Given the description of an element on the screen output the (x, y) to click on. 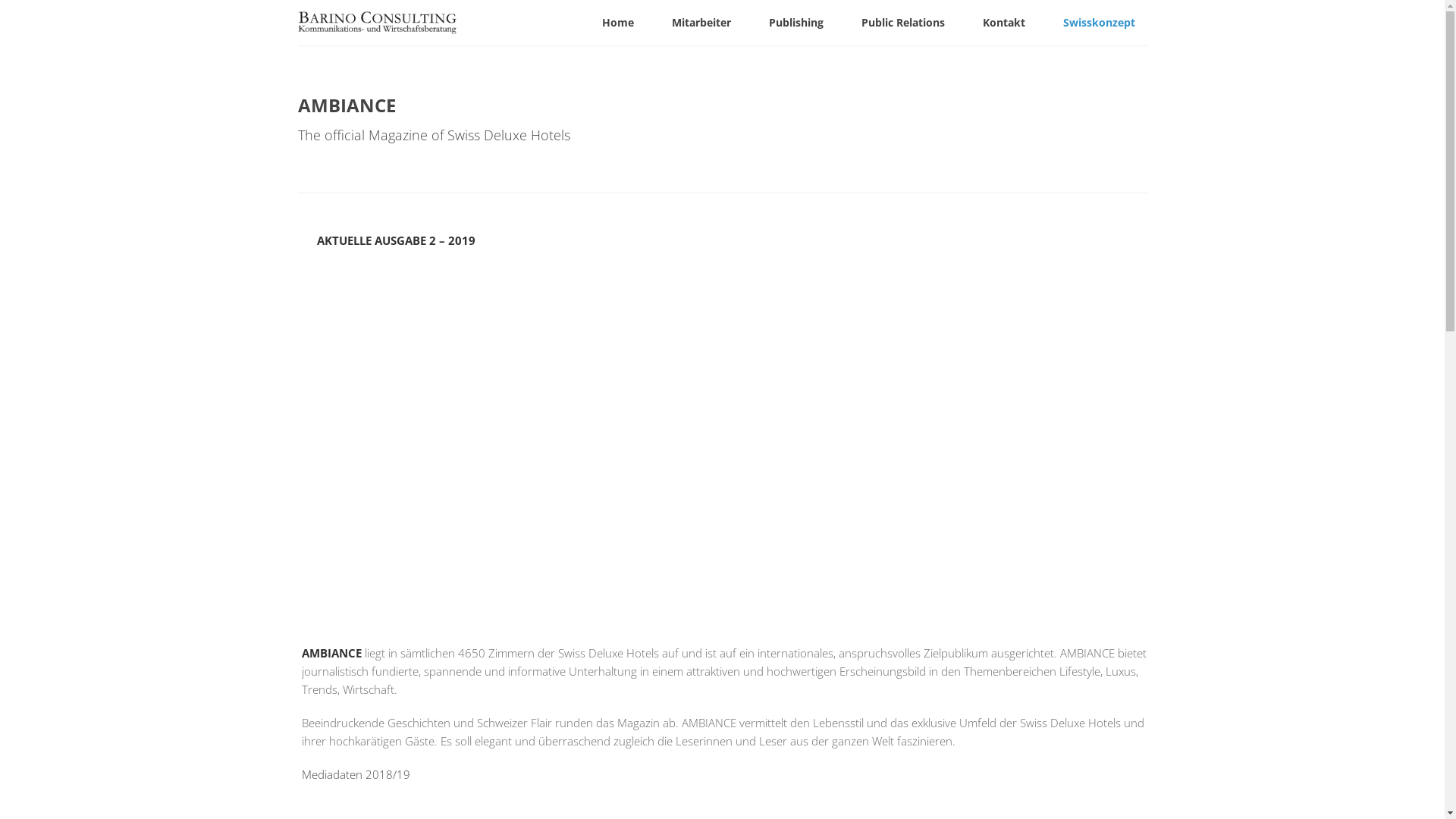
Barino Consulting Element type: hover (376, 24)
Mitarbeiter Element type: text (701, 21)
Kontakt Element type: text (1003, 21)
Home Element type: text (617, 21)
Publishing Element type: text (795, 21)
Public Relations Element type: text (903, 21)
Swisskonzept Element type: text (1098, 21)
Mediadaten 2018/19 Element type: text (355, 773)
